Given the description of an element on the screen output the (x, y) to click on. 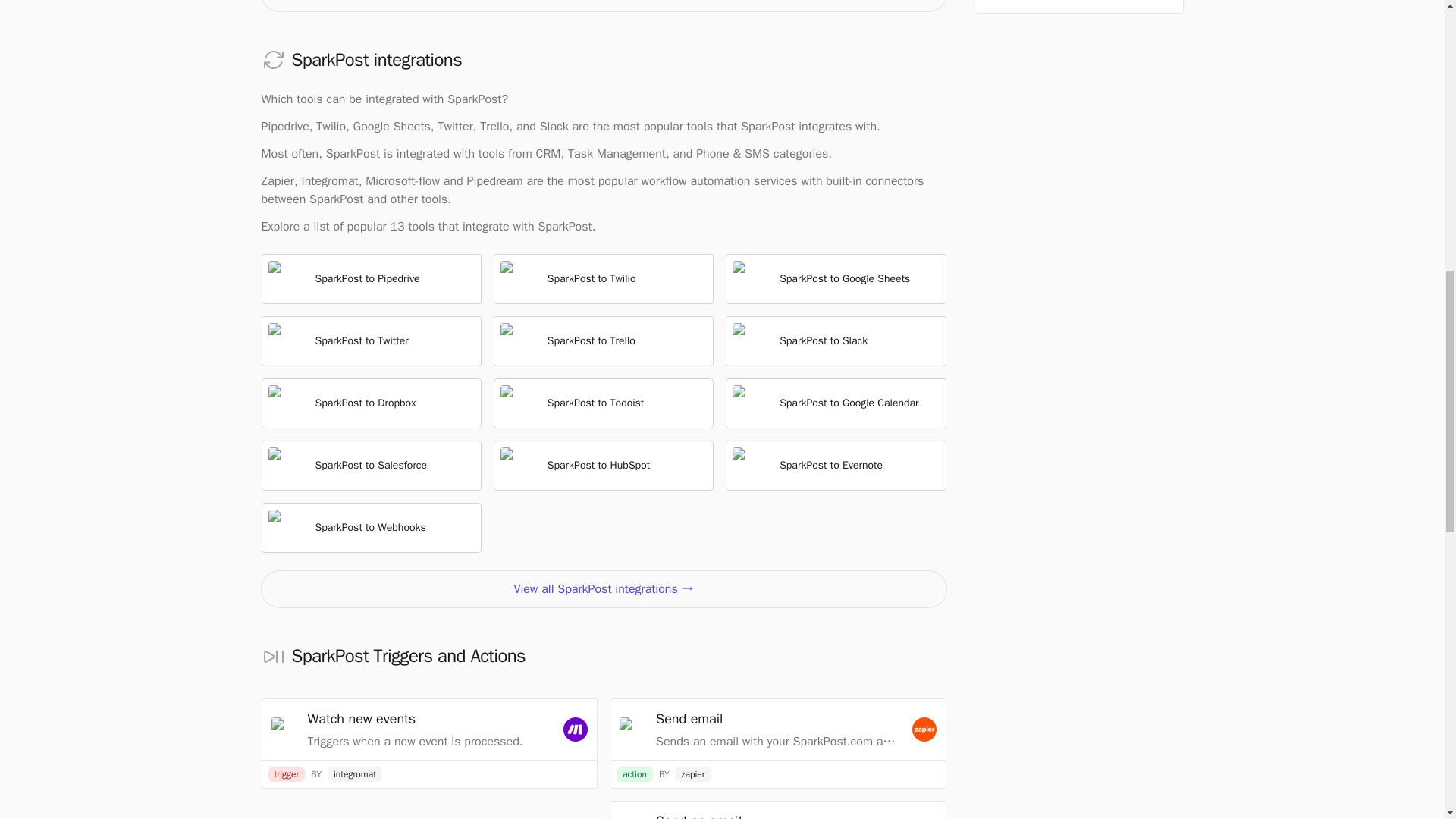
Pipedrive (284, 126)
Pipedrive (285, 279)
